Given the description of an element on the screen output the (x, y) to click on. 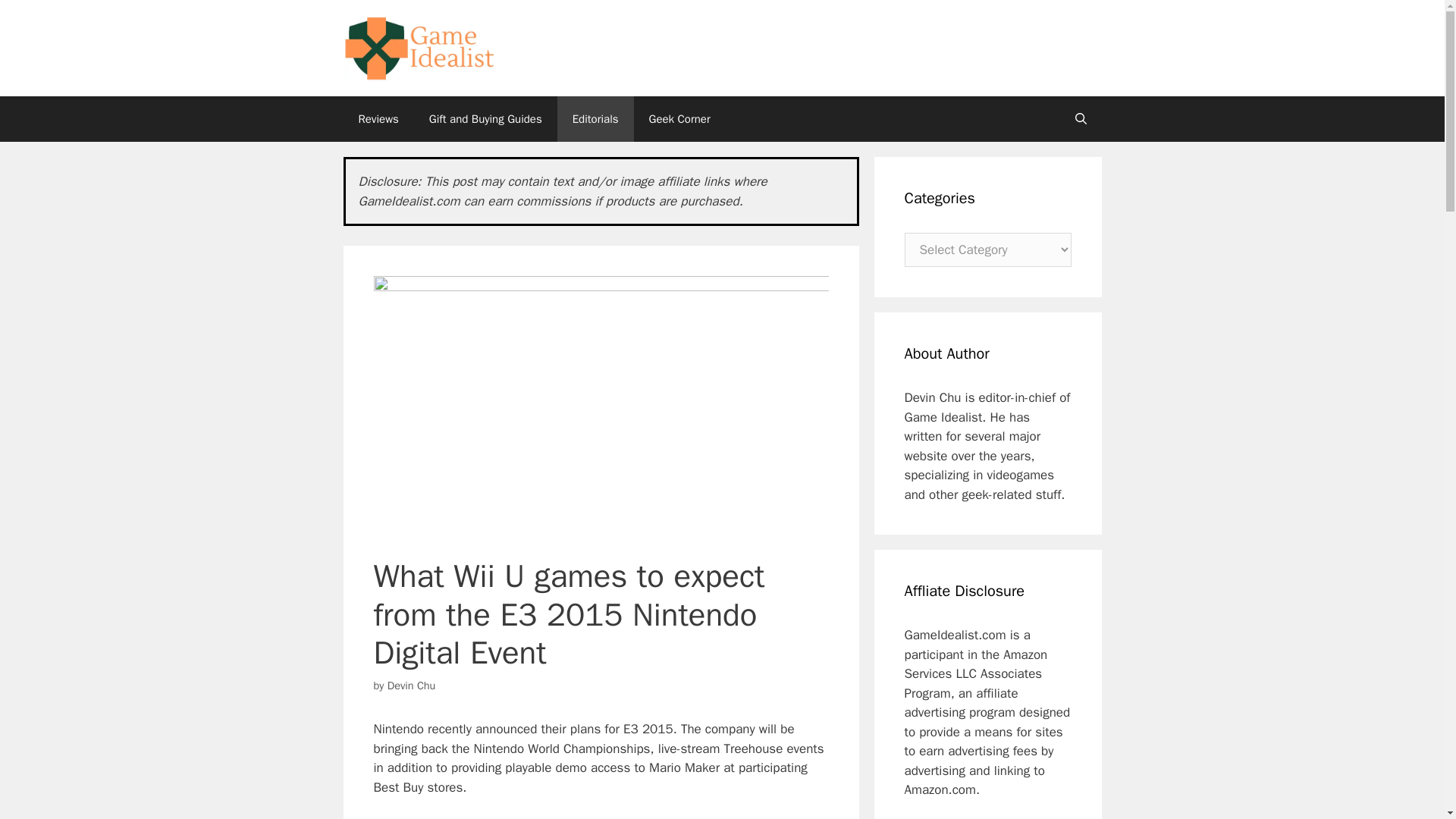
Gift and Buying Guides (485, 118)
Geek Corner (679, 118)
View all posts by Devin Chu (411, 685)
Devin Chu (411, 685)
Editorials (595, 118)
Reviews (377, 118)
